Given the description of an element on the screen output the (x, y) to click on. 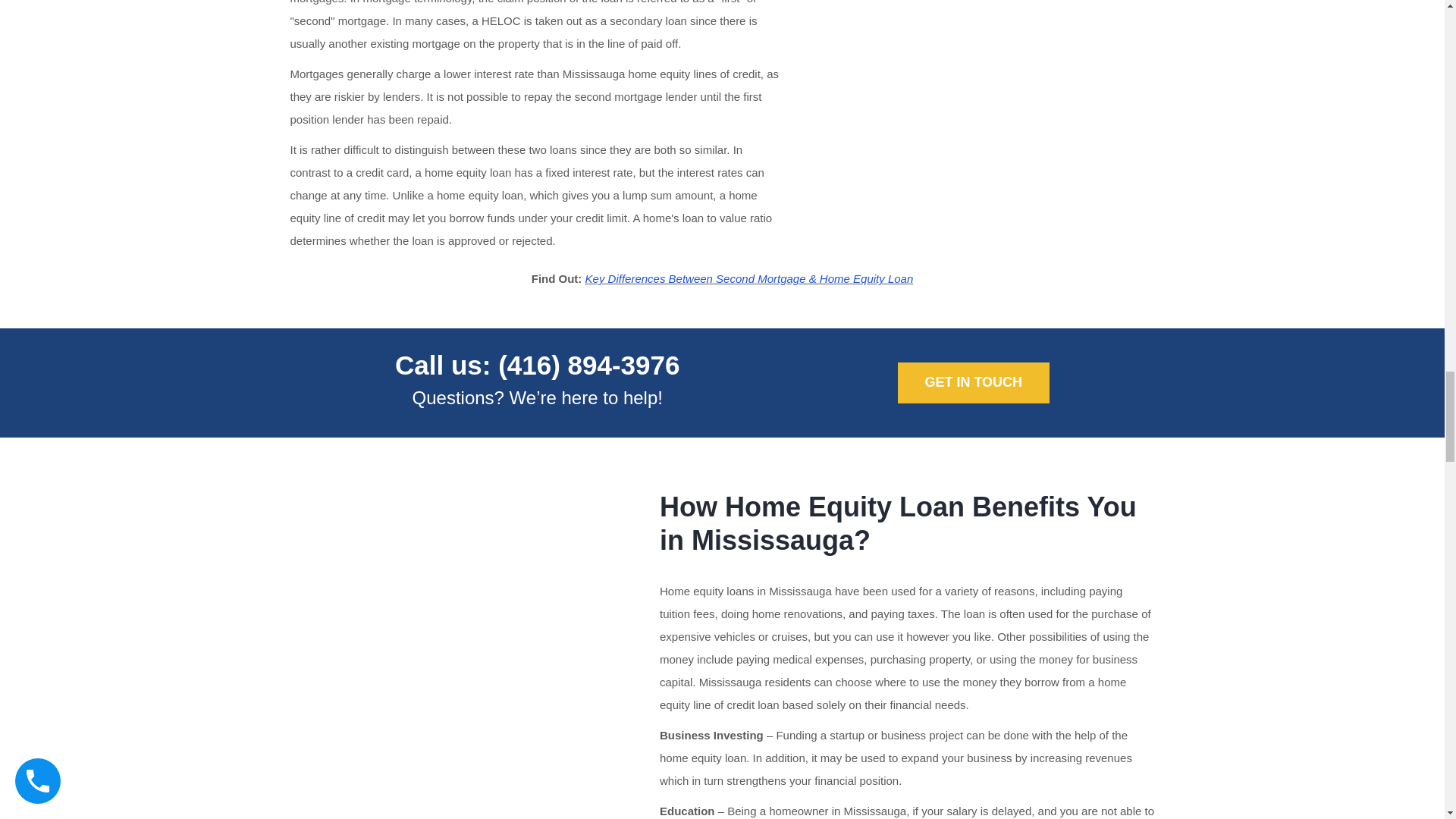
GET IN TOUCH (973, 382)
